Given the description of an element on the screen output the (x, y) to click on. 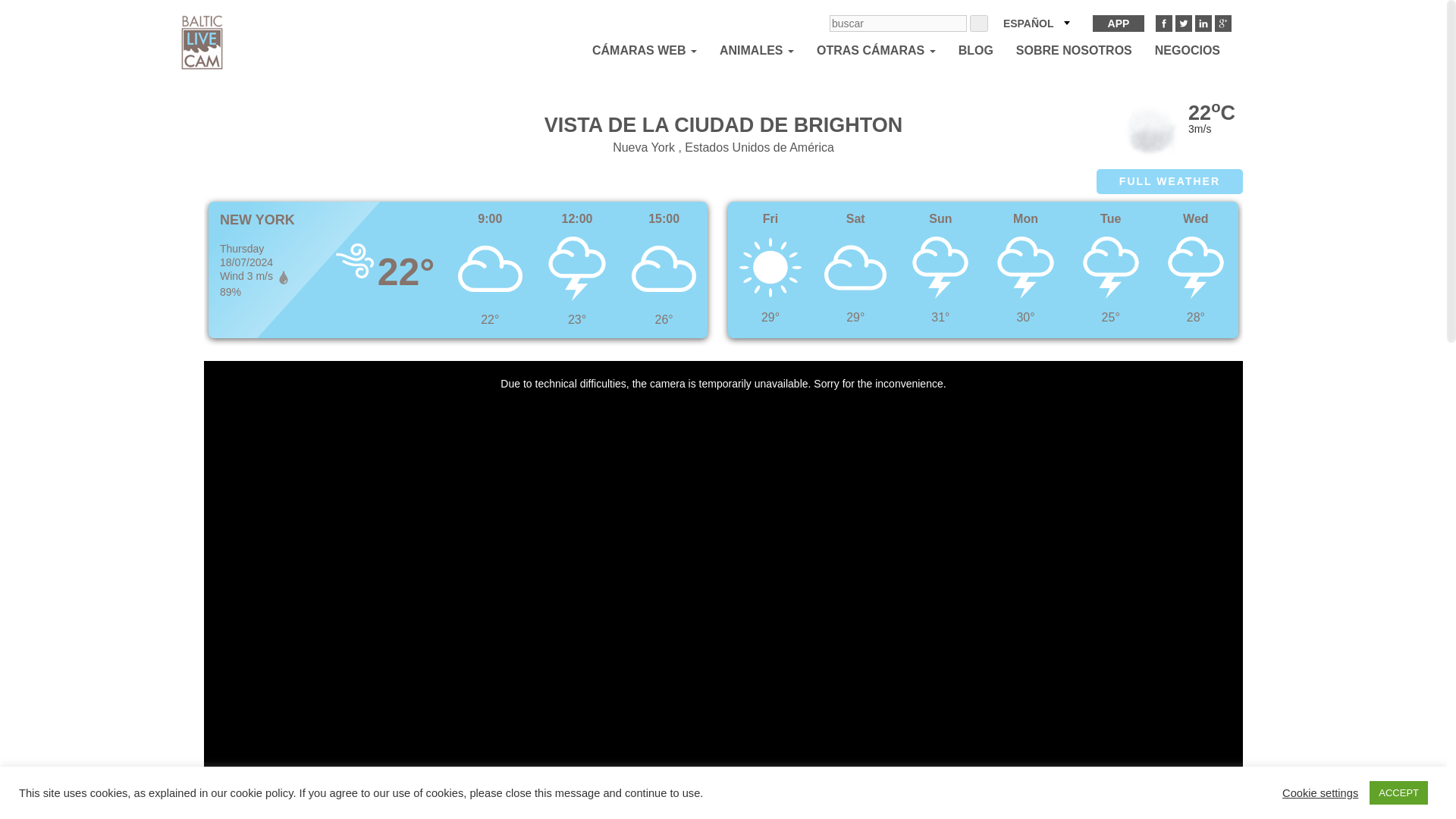
APP (1118, 23)
